Given the description of an element on the screen output the (x, y) to click on. 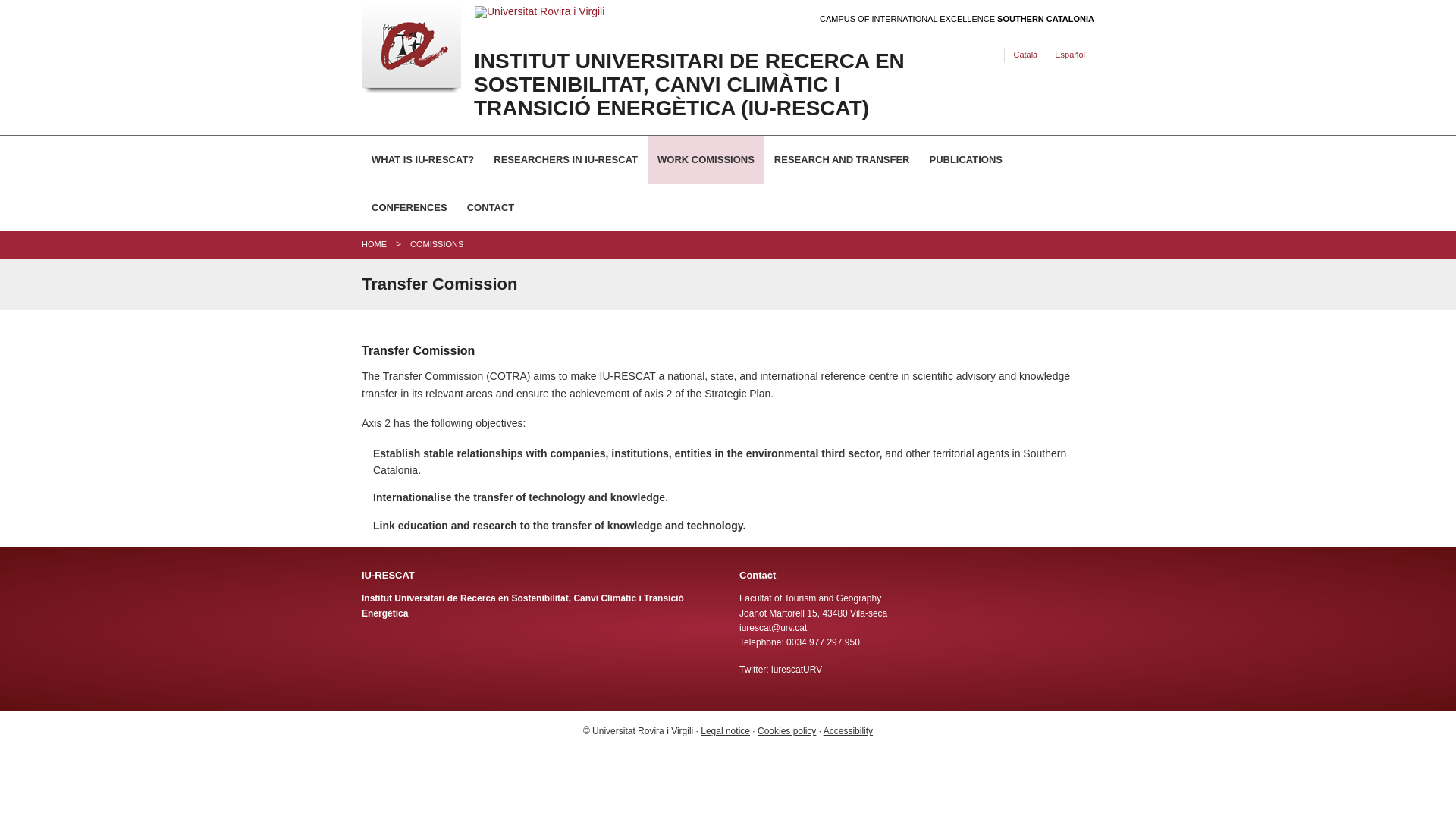
RESEARCHERS IN IU-RESCAT (565, 159)
CAMPUS OF INTERNATIONAL EXCELLENCE SOUTHERN CATALONIA (956, 19)
WHAT IS IU-RESCAT? (422, 159)
Home (374, 243)
Comissions (436, 243)
